Given the description of an element on the screen output the (x, y) to click on. 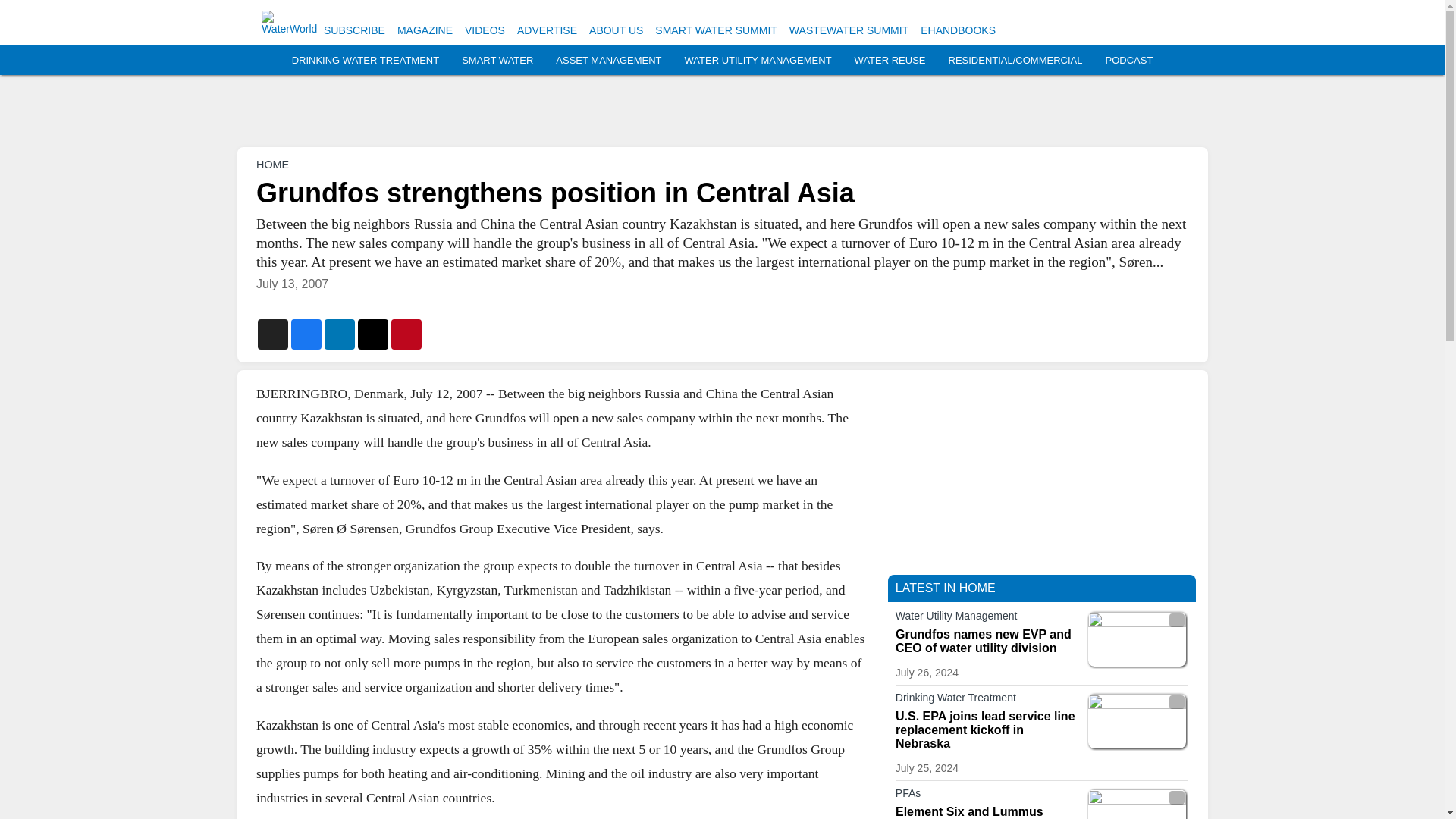
WASTEWATER SUMMIT (848, 30)
VIDEOS (484, 30)
WATER REUSE (890, 60)
SUBSCRIBE (354, 30)
DRINKING WATER TREATMENT (365, 60)
EHANDBOOKS (957, 30)
SMART WATER SUMMIT (715, 30)
ASSET MANAGEMENT (608, 60)
SMART WATER (496, 60)
MAGAZINE (424, 30)
HOME (272, 164)
WATER UTILITY MANAGEMENT (757, 60)
LATEST IN HOME (945, 587)
ABOUT US (616, 30)
PODCAST (1129, 60)
